Given the description of an element on the screen output the (x, y) to click on. 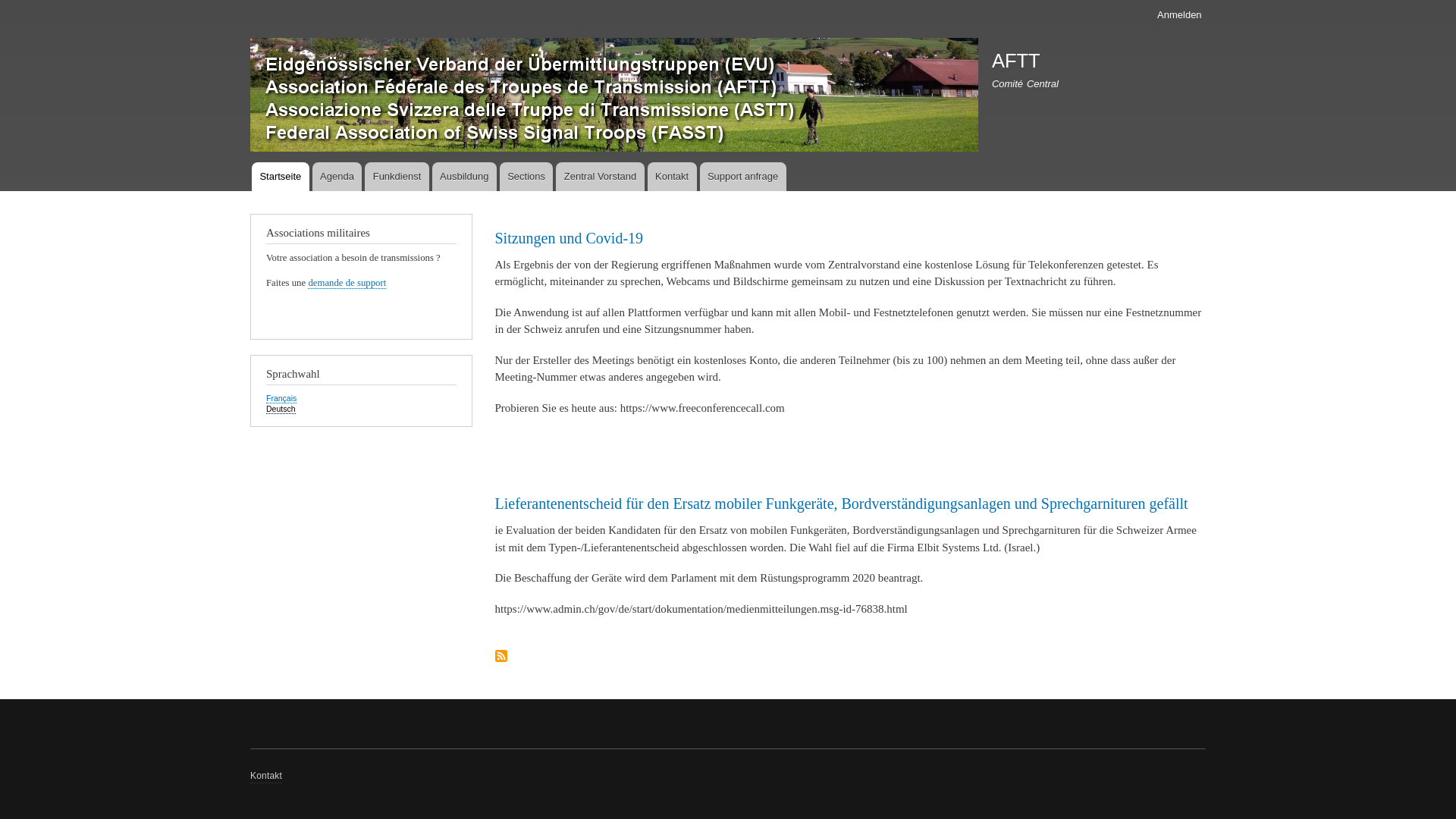
AFTT Element type: text (1015, 60)
Deutsch Element type: text (280, 409)
Anmelden Element type: text (1179, 15)
Startseite Element type: hover (614, 96)
Sections Element type: text (526, 176)
Kontakt Element type: text (266, 775)
Support anfrage Element type: text (742, 176)
Sitzungen und Covid-19 Element type: text (568, 237)
Ausbildung Element type: text (464, 176)
Funkdienst Element type: text (396, 176)
demande de support Element type: text (346, 282)
Zentral Vorstand Element type: text (599, 176)
Startseite Element type: text (280, 176)
Direkt zum Inhalt Element type: text (728, 1)
abonnieren Element type: text (500, 656)
Kontakt Element type: text (671, 176)
Agenda Element type: text (337, 176)
